Given the description of an element on the screen output the (x, y) to click on. 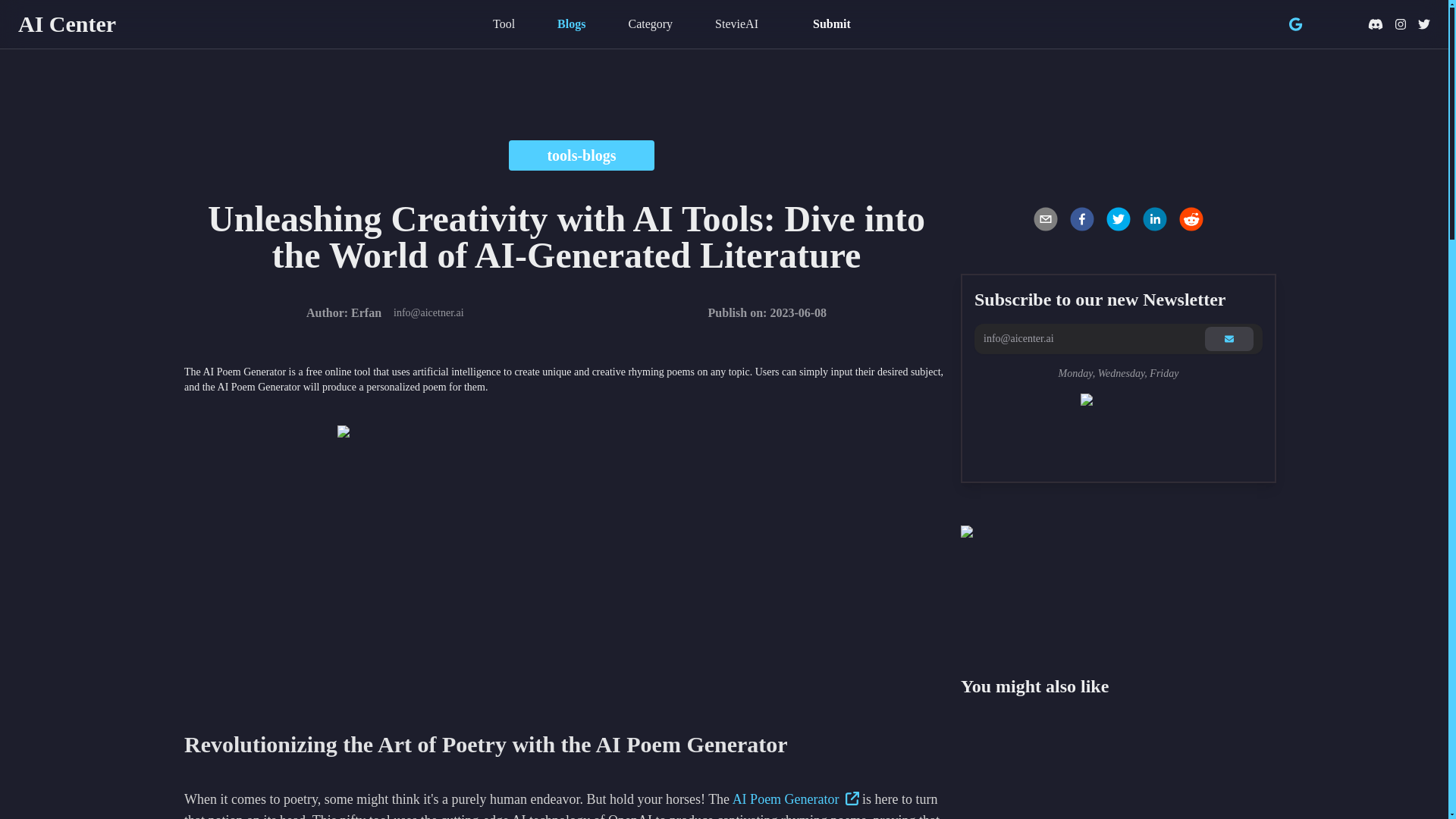
AI Center (66, 23)
AI Poem Generator (795, 798)
Blogs (571, 24)
Tool (504, 24)
tools-blogs (580, 155)
Category (649, 24)
StevieAI (736, 24)
Submit (831, 24)
